Given the description of an element on the screen output the (x, y) to click on. 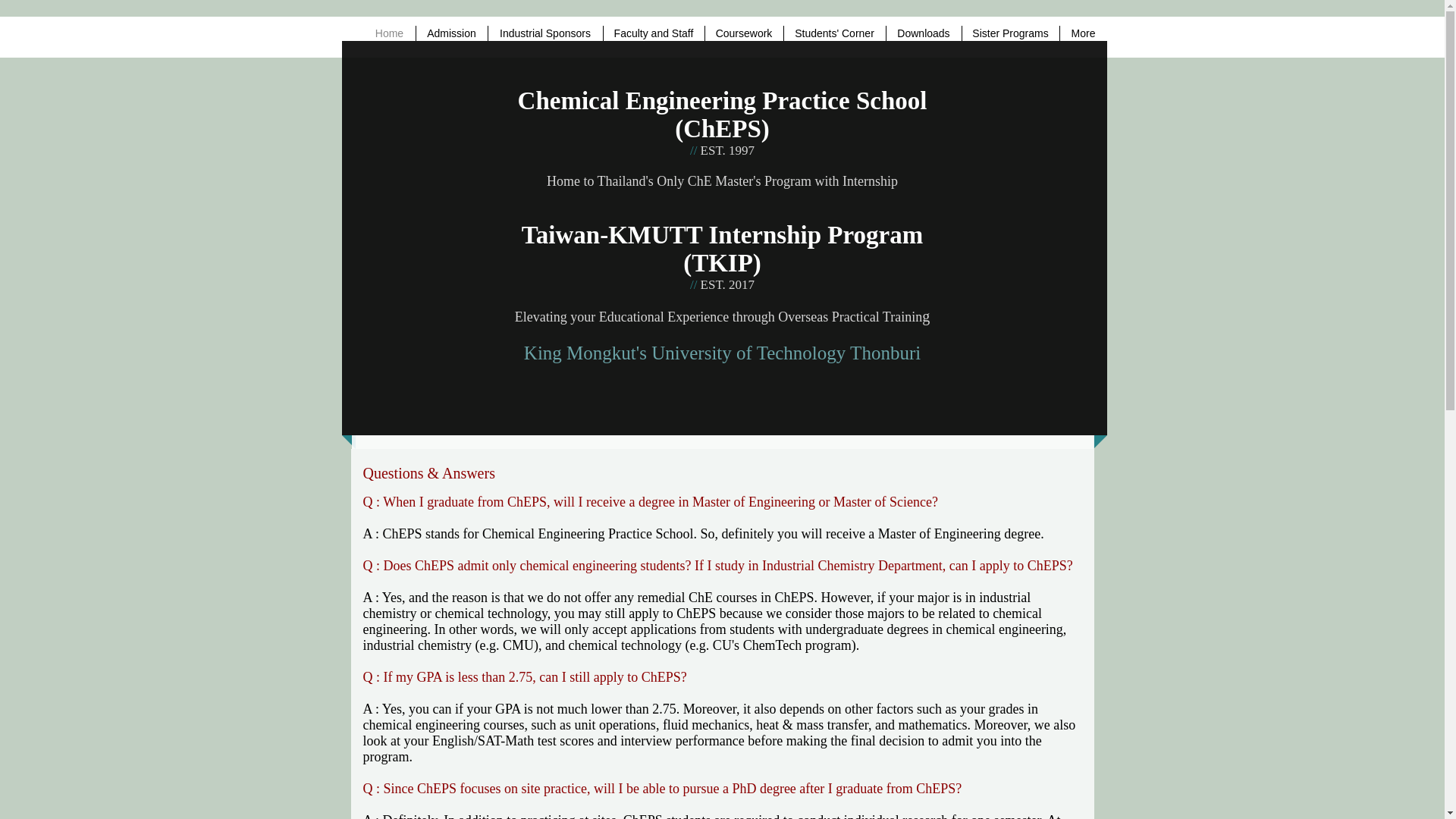
Coursework (743, 32)
Faculty and Staff (654, 32)
Students' Corner (834, 32)
Home (389, 32)
Downloads (922, 32)
Admission (450, 32)
Industrial Sponsors (544, 32)
